Given the description of an element on the screen output the (x, y) to click on. 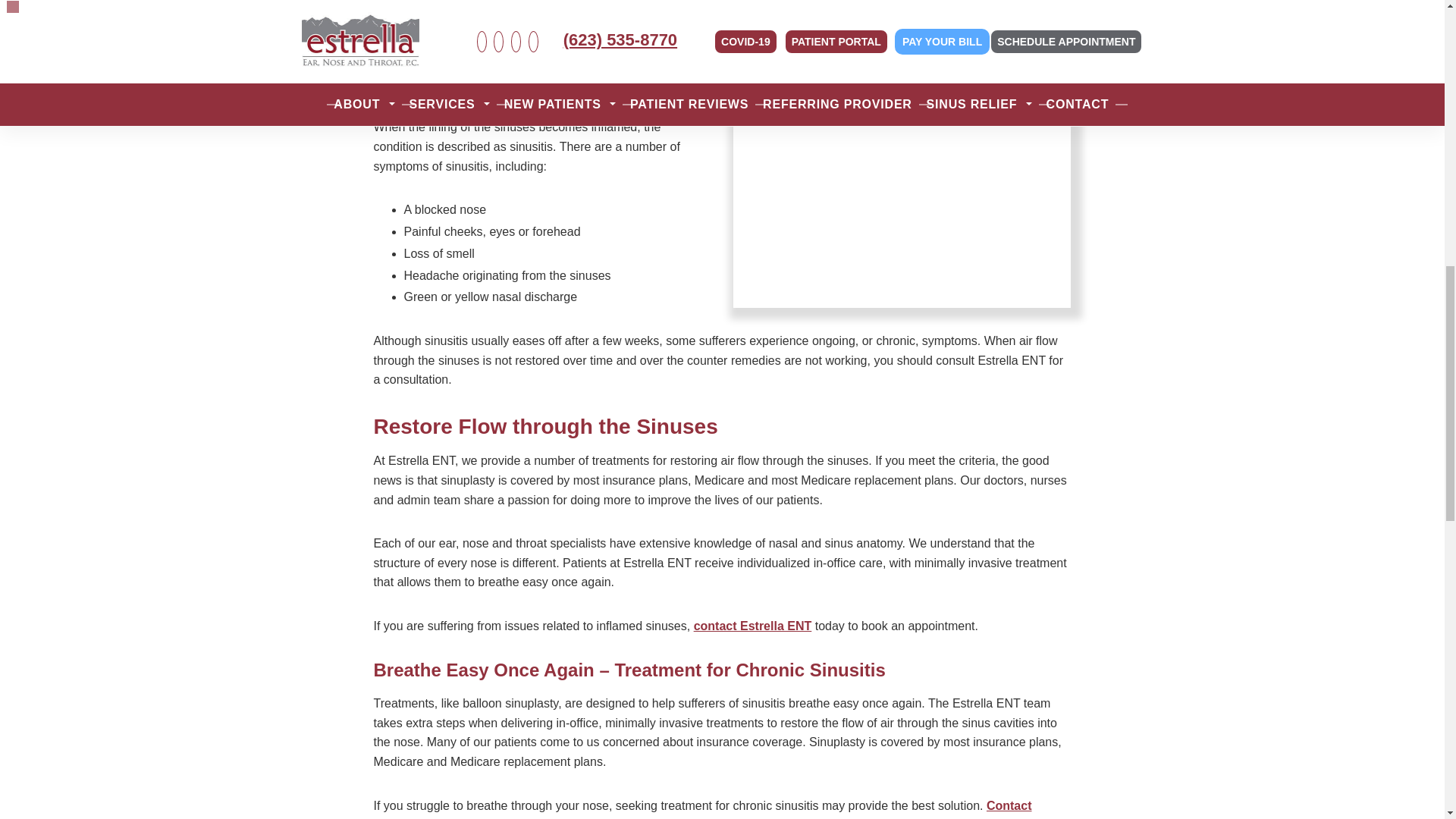
Contact Estrella ENT IN Goodyear AZ or Sun City West AZ (701, 809)
Contact Estrella ENT IN Goodyear AZ or Sun City West AZ (753, 625)
Goodyear AZ Sinusitis Treatment (952, 83)
